Given the description of an element on the screen output the (x, y) to click on. 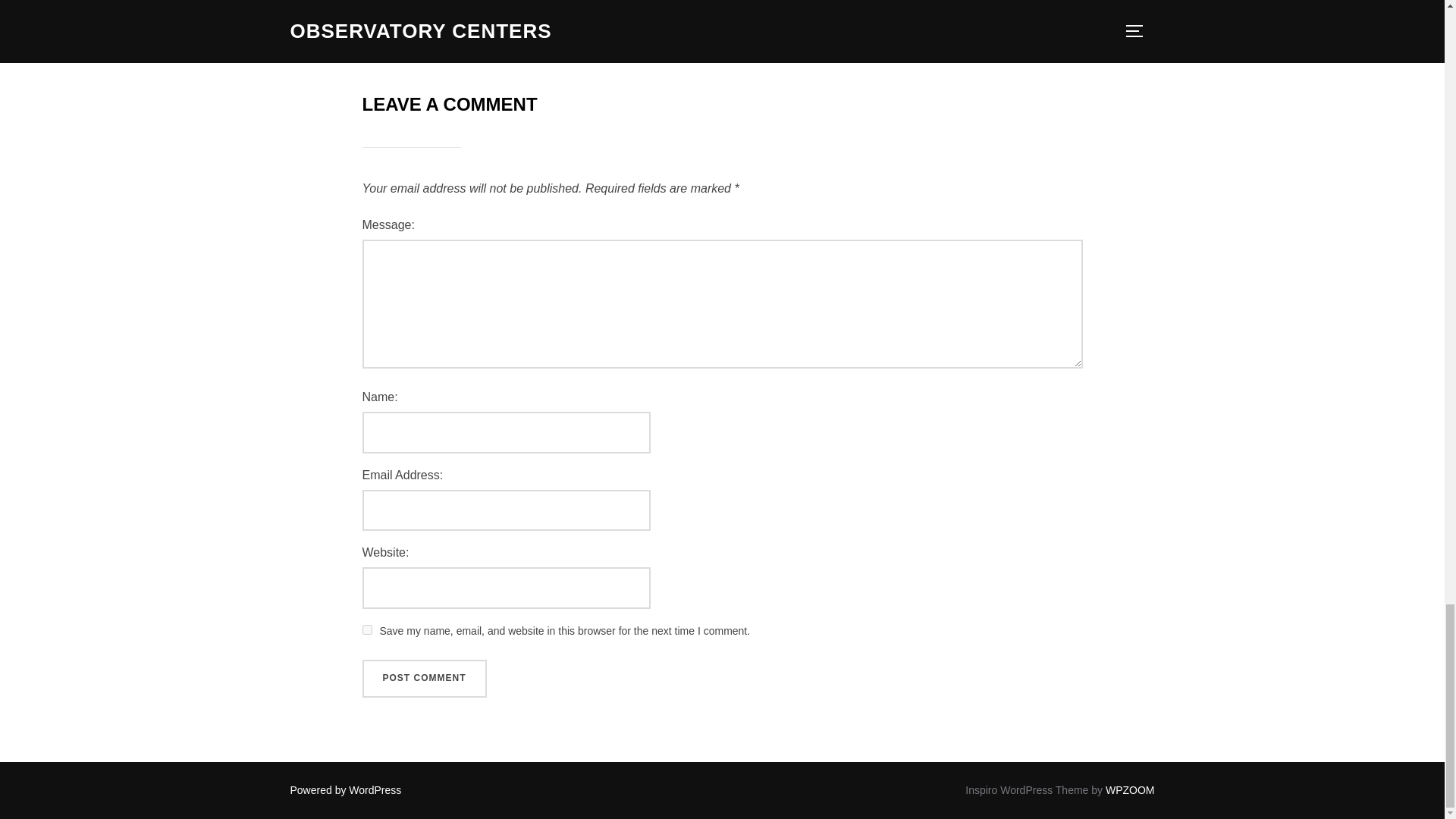
Post Comment (424, 678)
Post Comment (424, 678)
yes (367, 629)
WPZOOM (1129, 789)
Powered by WordPress (345, 789)
